Given the description of an element on the screen output the (x, y) to click on. 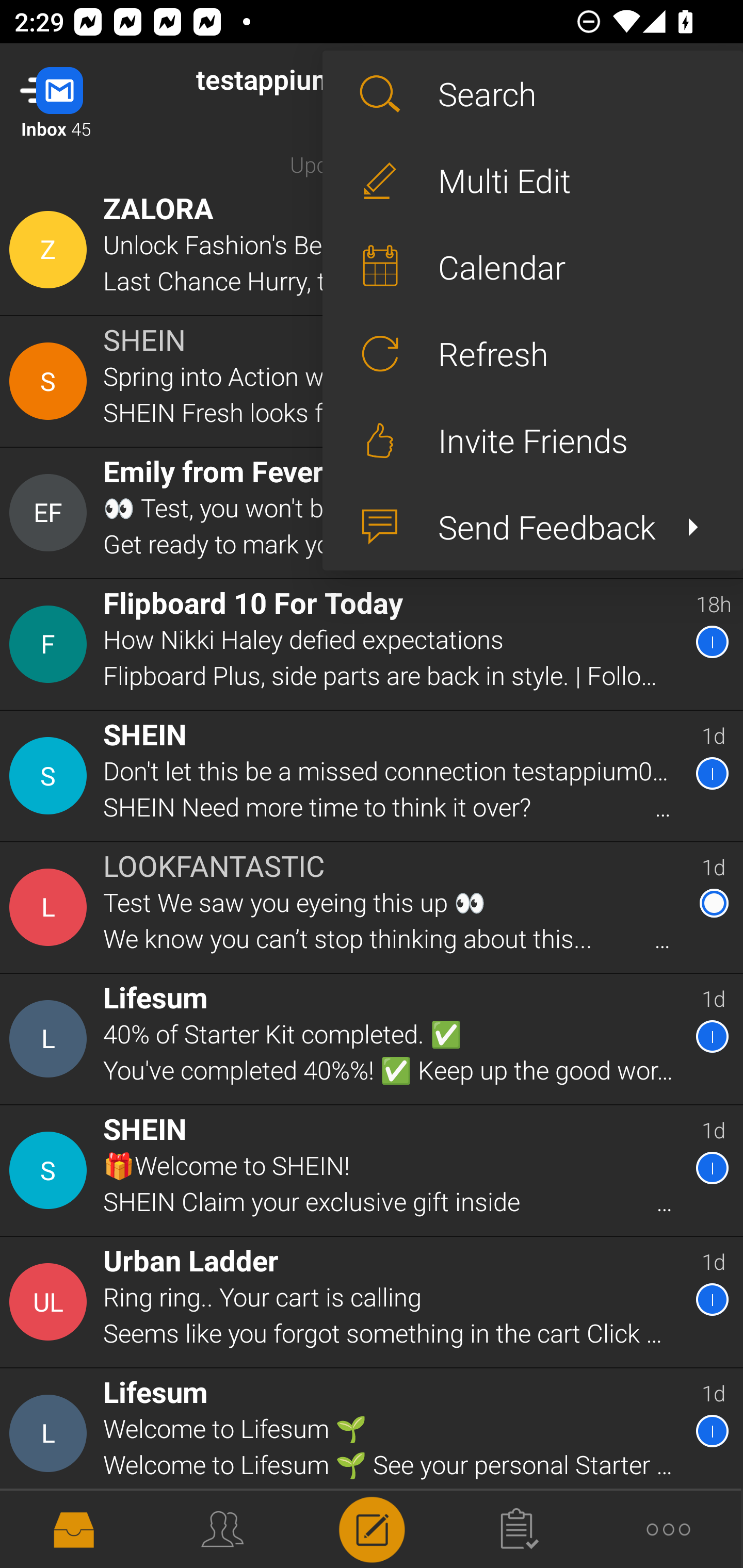
Search (532, 93)
Multi Edit (532, 180)
Calendar (532, 267)
Refresh (532, 353)
Invite Friends (532, 440)
Send Feedback (532, 527)
